Given the description of an element on the screen output the (x, y) to click on. 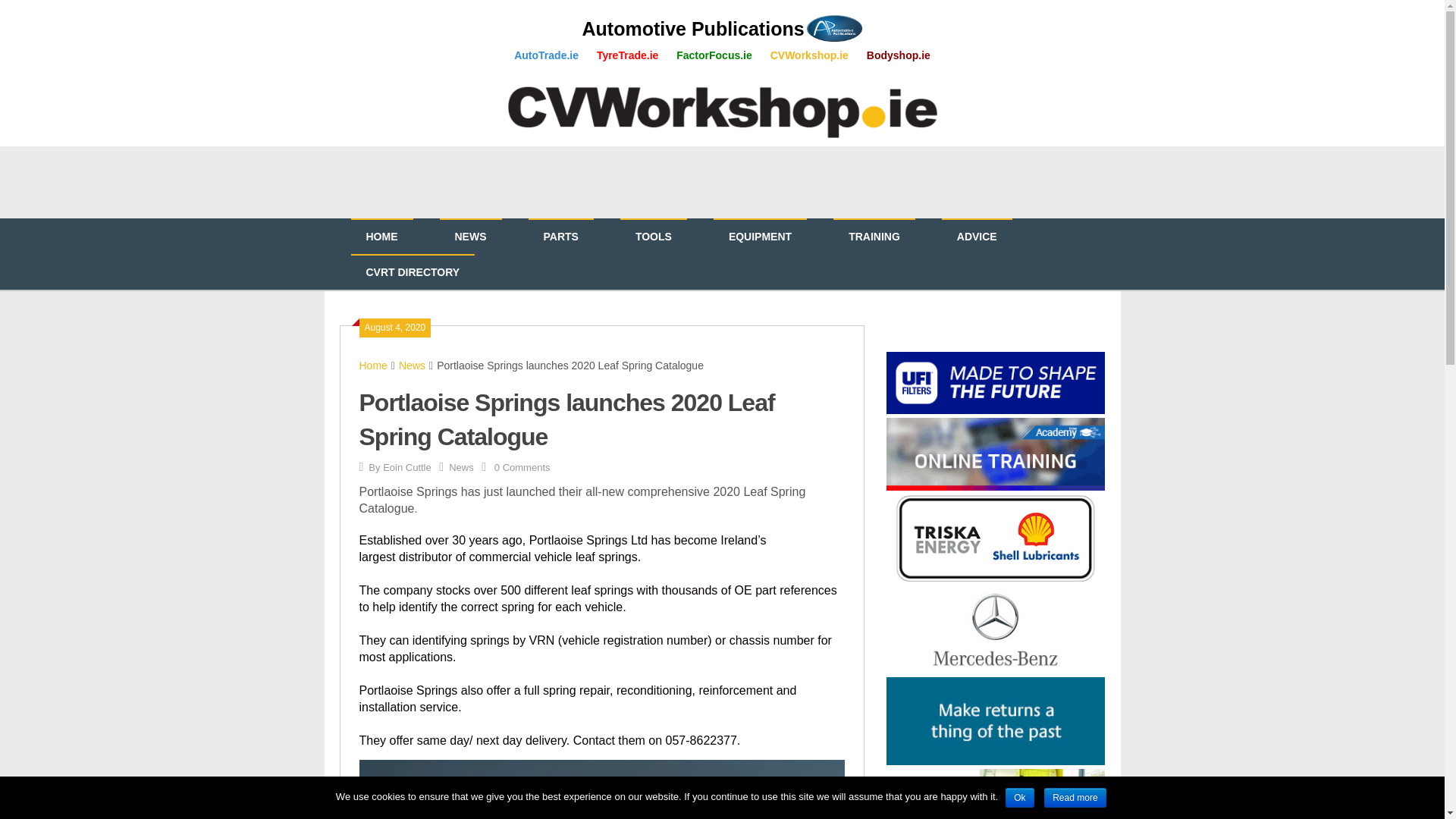
Eoin Cuttle (406, 467)
Home (373, 365)
HOME (381, 236)
NEWS (470, 236)
0 Comments (522, 467)
CVRT DIRECTORY (412, 272)
ADVICE (976, 236)
TRAINING (873, 236)
PARTS (559, 236)
News (411, 365)
TOOLS (653, 236)
News (461, 467)
EQUIPMENT (759, 236)
Posts by Eoin Cuttle (406, 467)
